Given the description of an element on the screen output the (x, y) to click on. 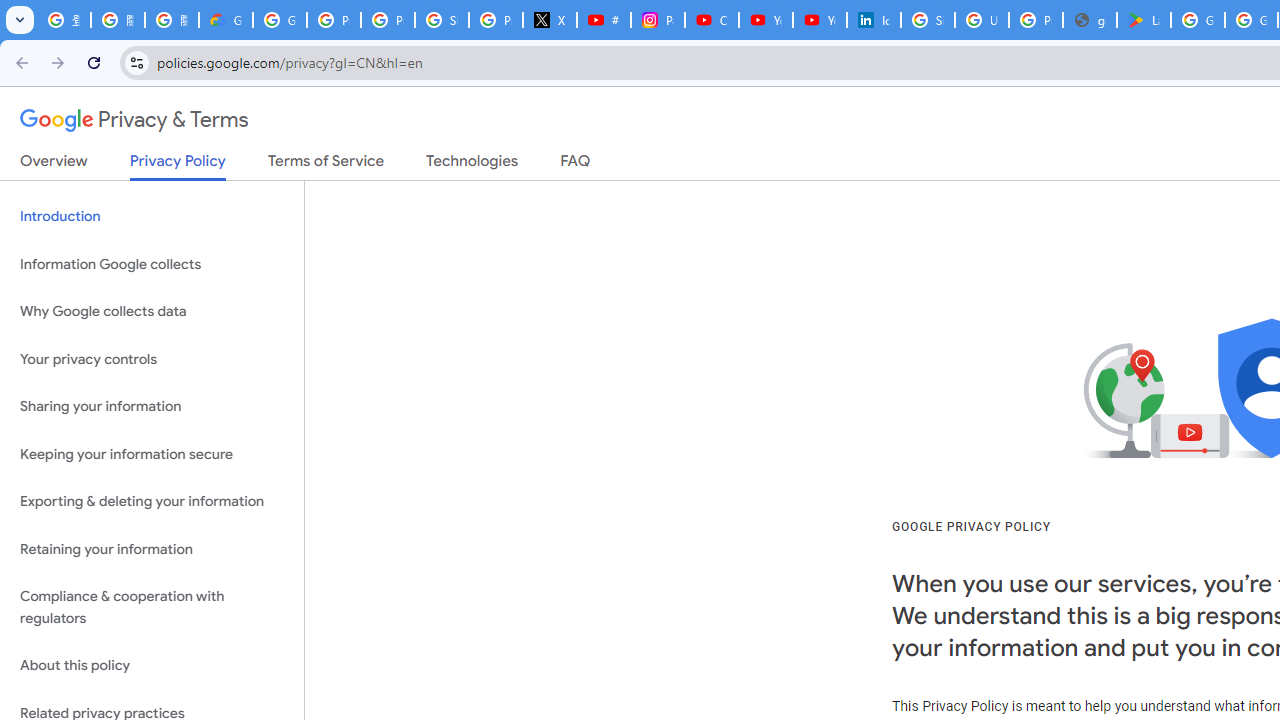
Privacy Policy (177, 166)
Why Google collects data (152, 312)
X (550, 20)
Information Google collects (152, 263)
Privacy Help Center - Policies Help (387, 20)
Technologies (472, 165)
Sign in - Google Accounts (441, 20)
Terms of Service (326, 165)
#nbabasketballhighlights - YouTube (604, 20)
Keeping your information secure (152, 453)
google_privacy_policy_en.pdf (1089, 20)
